Given the description of an element on the screen output the (x, y) to click on. 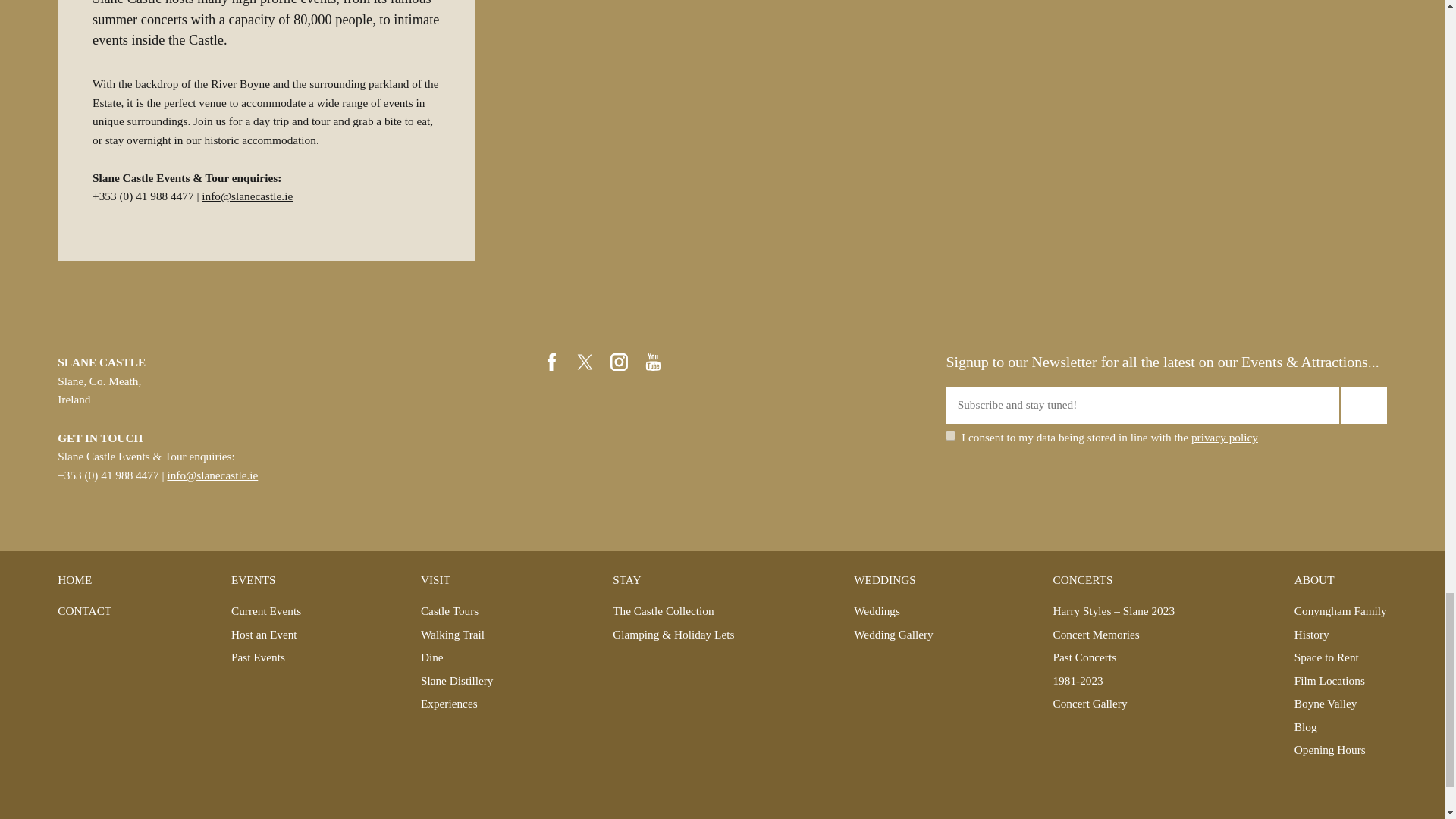
Subscribe (1363, 405)
Twitter (585, 361)
Facebook (551, 361)
Y (949, 435)
Instagram (618, 361)
YouTube (653, 361)
